Given the description of an element on the screen output the (x, y) to click on. 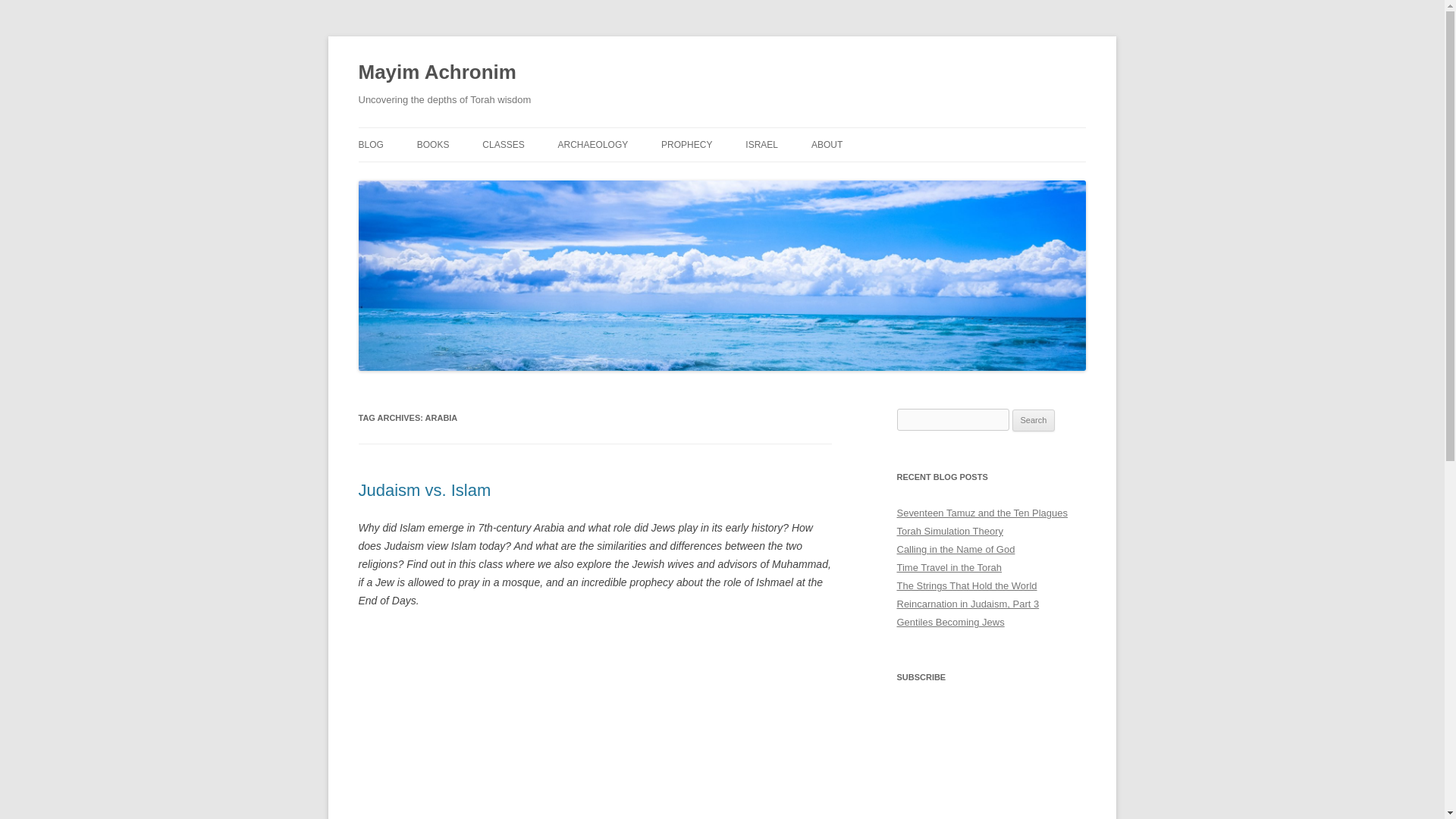
ISRAEL (761, 144)
Search (1033, 420)
CLASSES (502, 144)
Judaism vs. Islam (424, 489)
PROPHECY (686, 144)
Mayim Achronim (436, 72)
Judaism vs. Islam (594, 723)
ARCHAEOLOGY (592, 144)
BOOKS (432, 144)
ABOUT (826, 144)
